Given the description of an element on the screen output the (x, y) to click on. 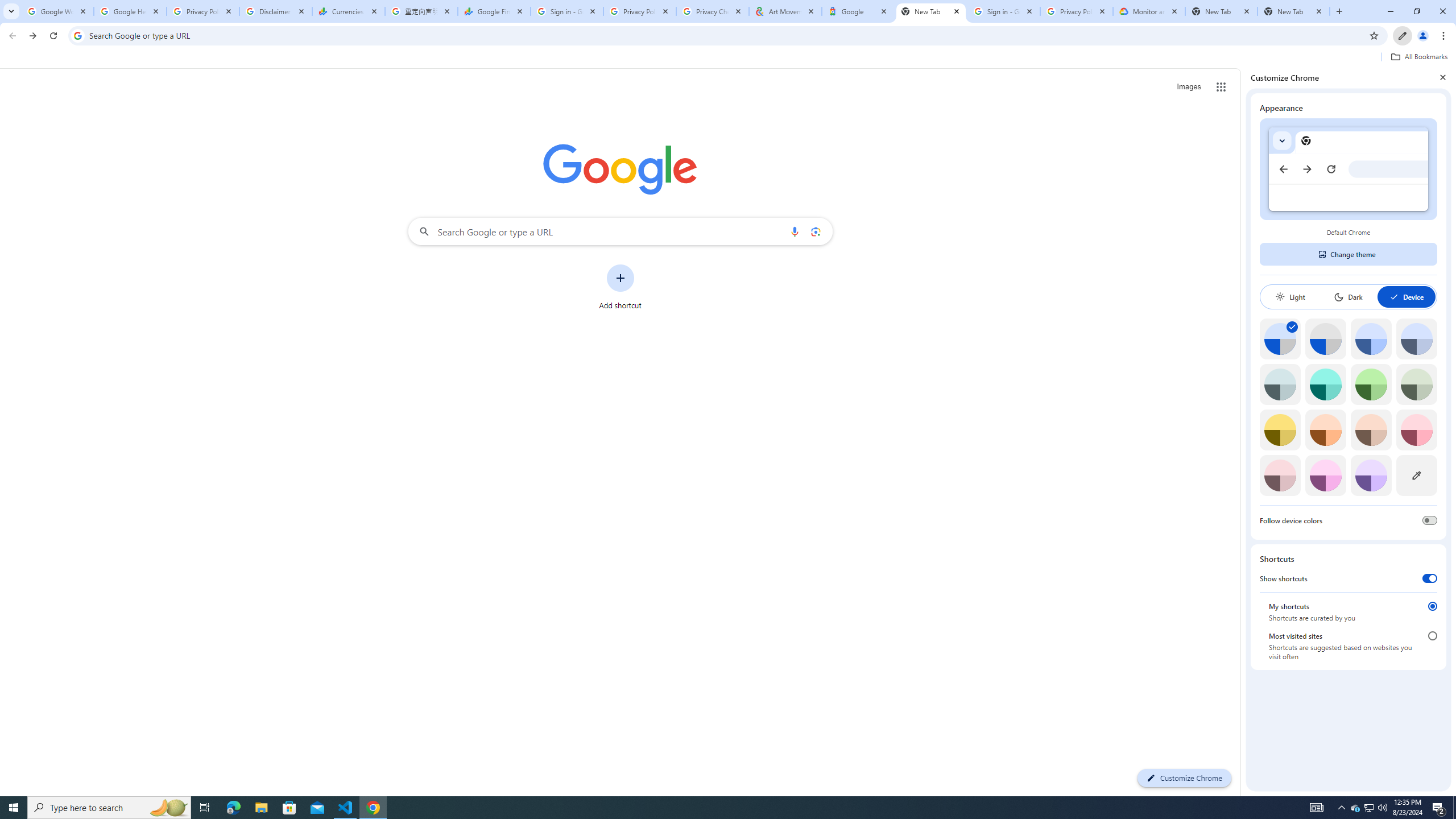
Follow device colors (1429, 519)
Add shortcut (620, 287)
Customize Chrome (1402, 35)
Grey (1279, 383)
Cool grey (1416, 338)
Citron (1279, 429)
